Given the description of an element on the screen output the (x, y) to click on. 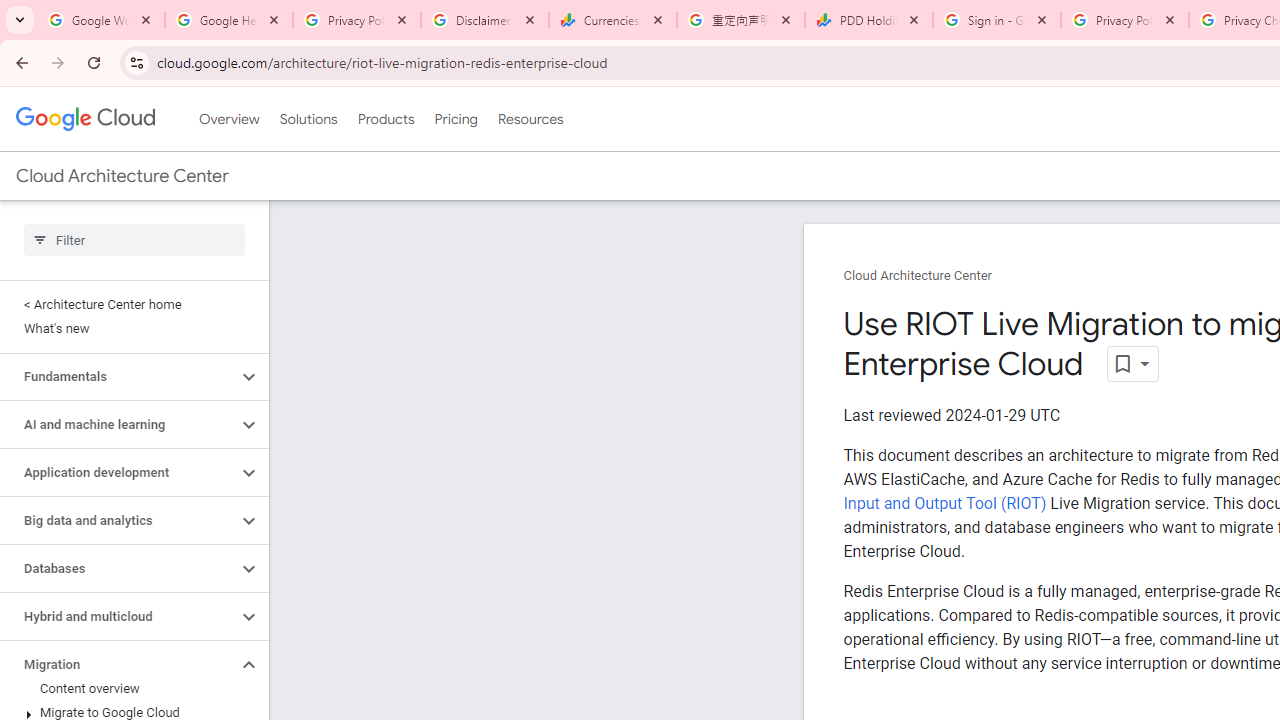
Pricing (455, 119)
PDD Holdings Inc - ADR (PDD) Price & News - Google Finance (869, 20)
Open dropdown (1131, 364)
Fundamentals (118, 376)
Migration (118, 664)
